Given the description of an element on the screen output the (x, y) to click on. 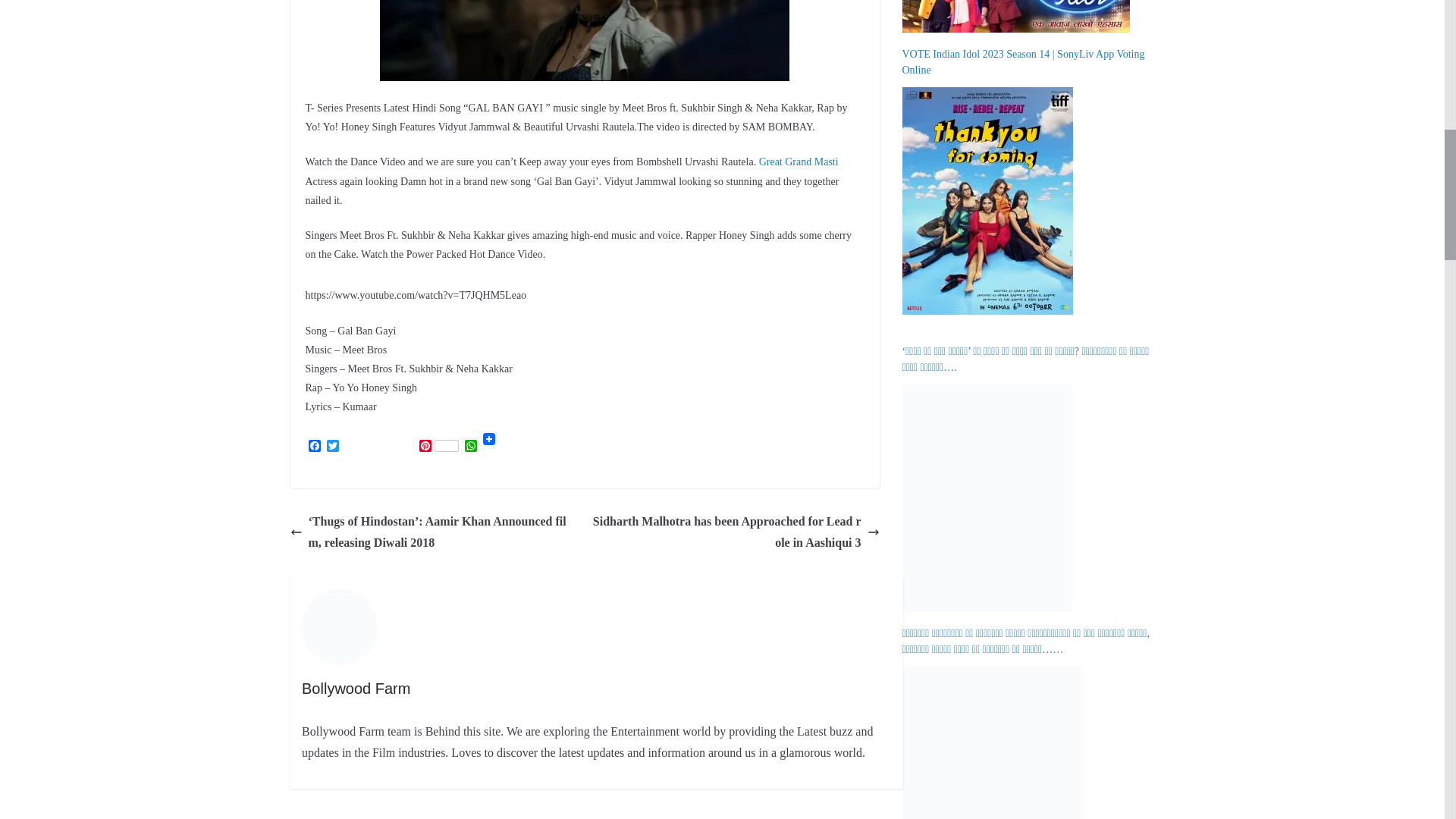
WhatsApp (470, 446)
Facebook (313, 446)
Great Grand Masti (798, 161)
WhatsApp (470, 446)
Pinterest (437, 446)
Facebook (313, 446)
Twitter (331, 446)
Pinterest (437, 446)
Twitter (331, 446)
